Given the description of an element on the screen output the (x, y) to click on. 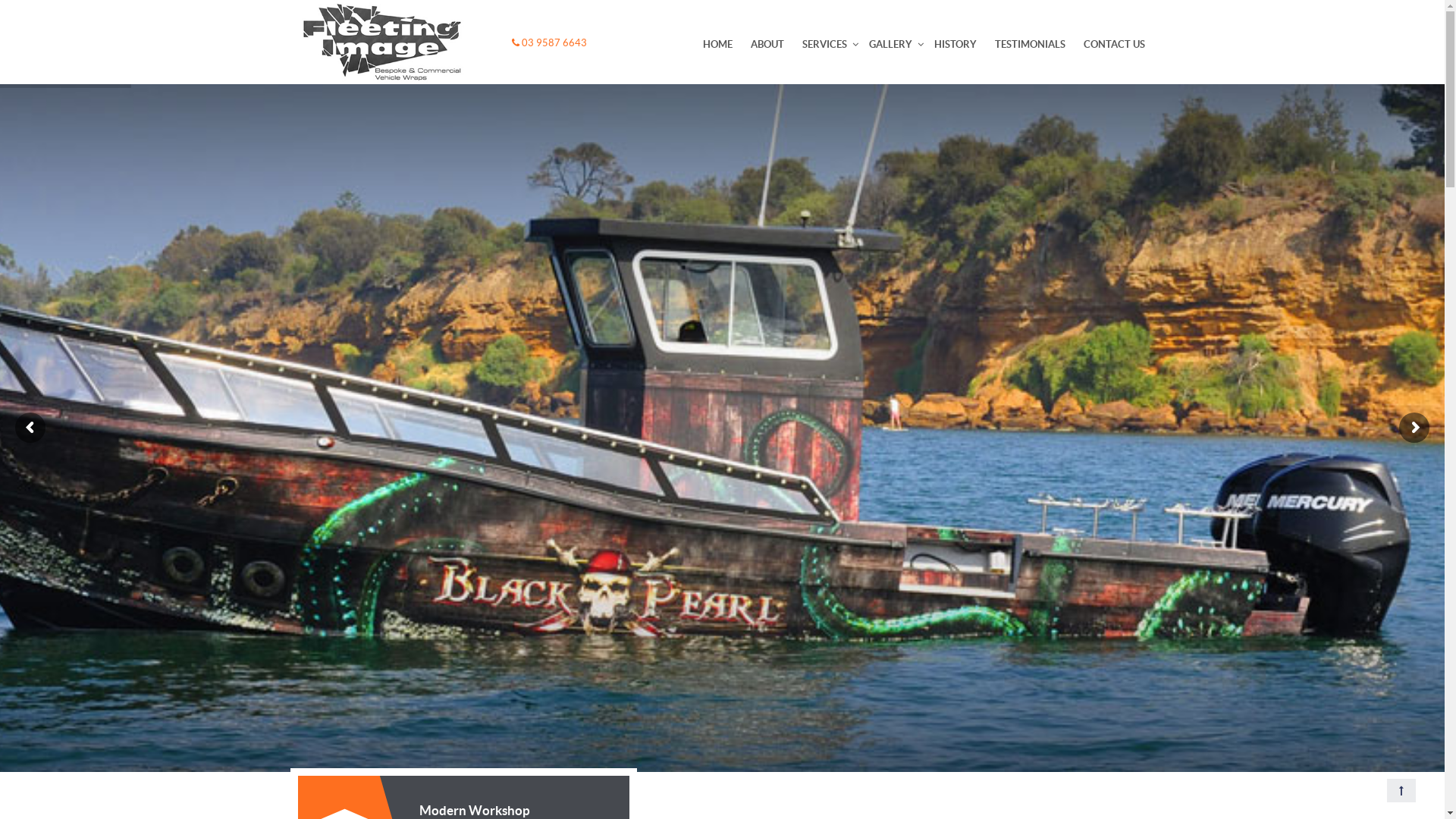
SERVICES Element type: text (824, 43)
TESTIMONIALS Element type: text (1029, 43)
CONTACT US Element type: text (1113, 43)
HISTORY Element type: text (955, 43)
GALLERY Element type: text (890, 43)
HOME Element type: text (716, 43)
03 9587 6643 Element type: text (548, 42)
ABOUT Element type: text (767, 43)
